Given the description of an element on the screen output the (x, y) to click on. 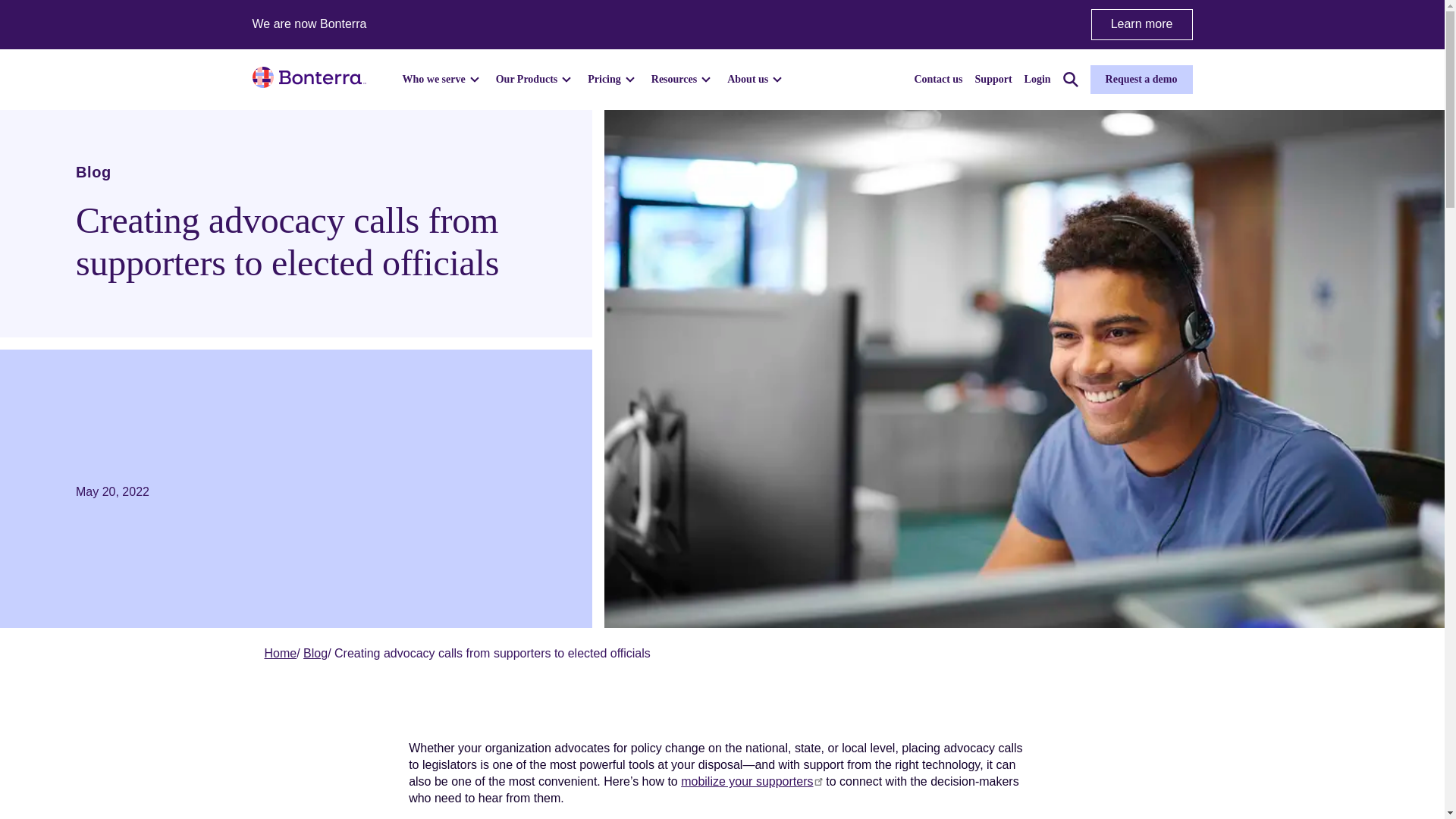
Pricing (613, 79)
Contact us (938, 79)
Our Products (536, 79)
Learn more (1141, 24)
Login (1038, 79)
Search (1070, 79)
Request a demo (1141, 79)
Who we serve (442, 79)
Support (993, 79)
About us (756, 79)
Resources (682, 79)
